Given the description of an element on the screen output the (x, y) to click on. 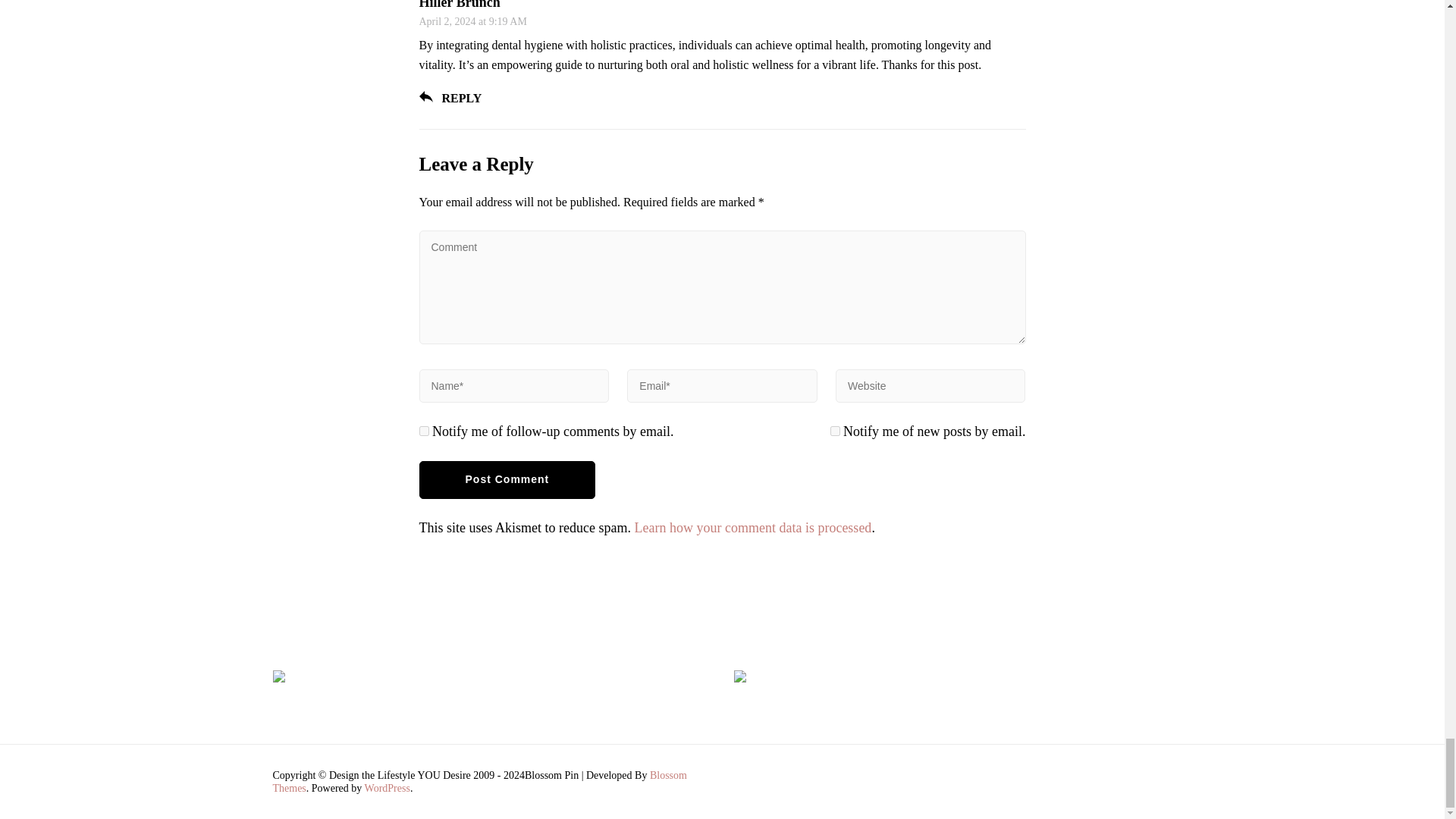
Post Comment (507, 479)
subscribe (423, 430)
subscribe (834, 430)
